Given the description of an element on the screen output the (x, y) to click on. 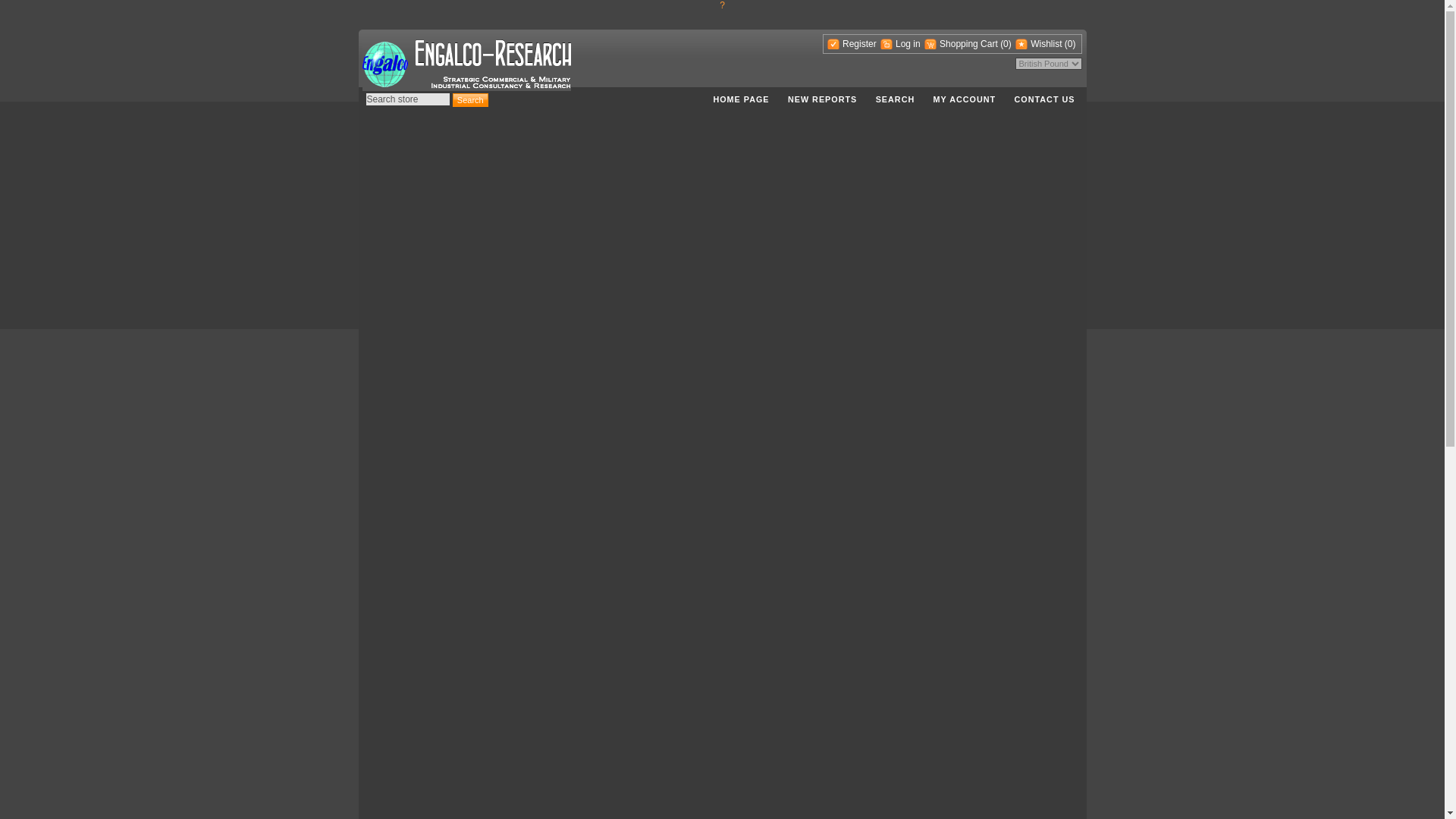
CONTACT US (1045, 99)
SEARCH (895, 99)
Search (469, 100)
Wishlist (1037, 43)
Search store (406, 99)
Log in (900, 43)
Search (469, 100)
Search store (406, 99)
Shopping Cart (962, 43)
NEW REPORTS (822, 99)
MY ACCOUNT (965, 99)
HOME PAGE (740, 99)
Search (469, 100)
Register (851, 43)
